Given the description of an element on the screen output the (x, y) to click on. 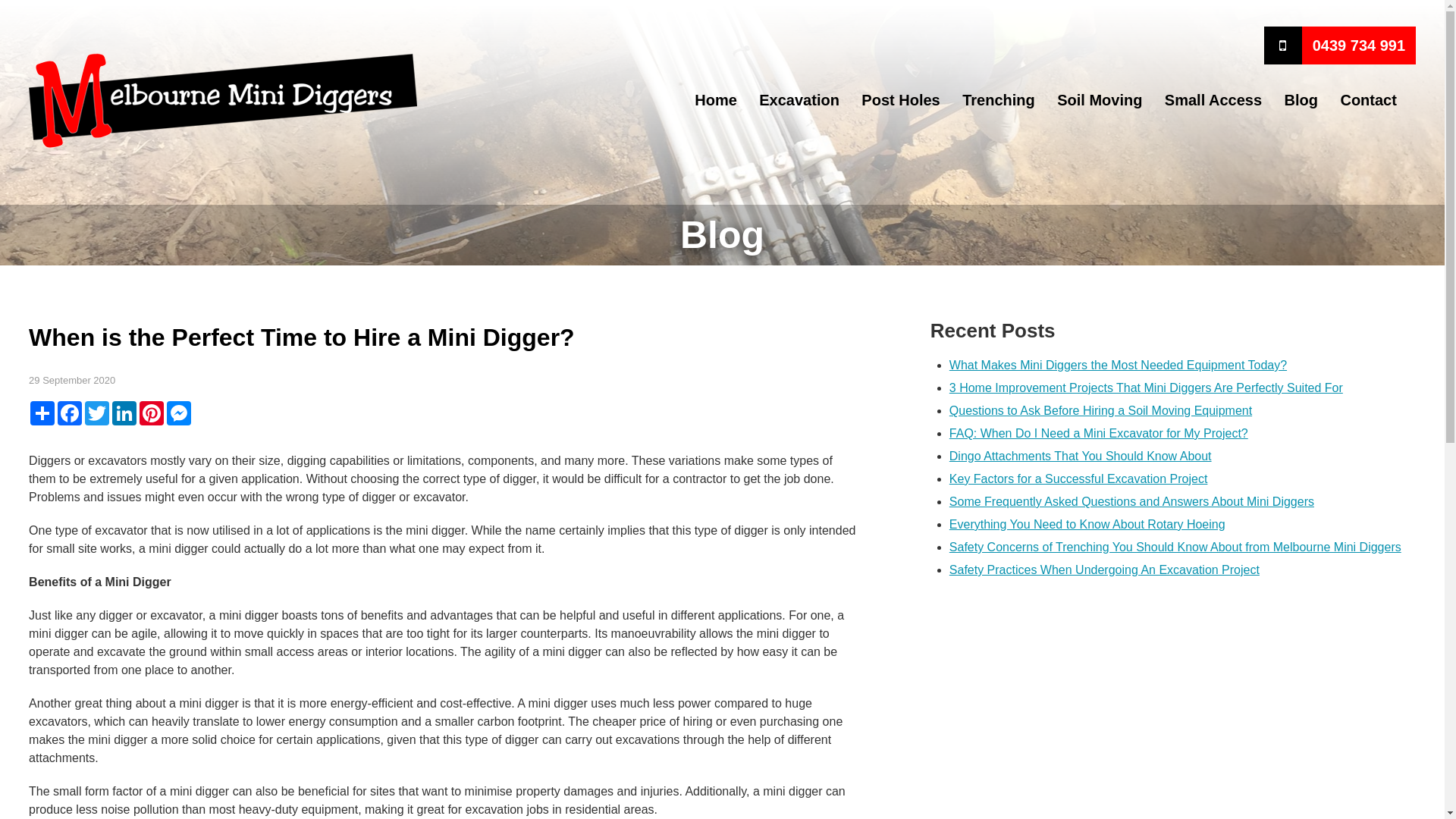
Pinterest Element type: text (151, 413)
LinkedIn Element type: text (124, 413)
Questions to Ask Before Hiring a Soil Moving Equipment Element type: text (1100, 410)
Excavation Element type: text (799, 99)
Key Factors for a Successful Excavation Project Element type: text (1078, 478)
Blog Element type: text (1300, 99)
Safety Practices When Undergoing An Excavation Project Element type: text (1104, 569)
Small Access Element type: text (1212, 99)
Messenger Element type: text (178, 413)
Soil Moving Element type: text (1099, 99)
Post Holes Element type: text (900, 99)
Facebook Element type: text (69, 413)
Twitter Element type: text (96, 413)
Dingo Attachments That You Should Know About Element type: text (1080, 455)
Contact Element type: text (1367, 99)
Share Element type: text (42, 413)
FAQ: When Do I Need a Mini Excavator for My Project? Element type: text (1098, 432)
Trenching Element type: text (998, 99)
What Makes Mini Diggers the Most Needed Equipment Today? Element type: text (1117, 364)
Home Element type: text (715, 99)
Everything You Need to Know About Rotary Hoeing Element type: text (1087, 523)
